Given the description of an element on the screen output the (x, y) to click on. 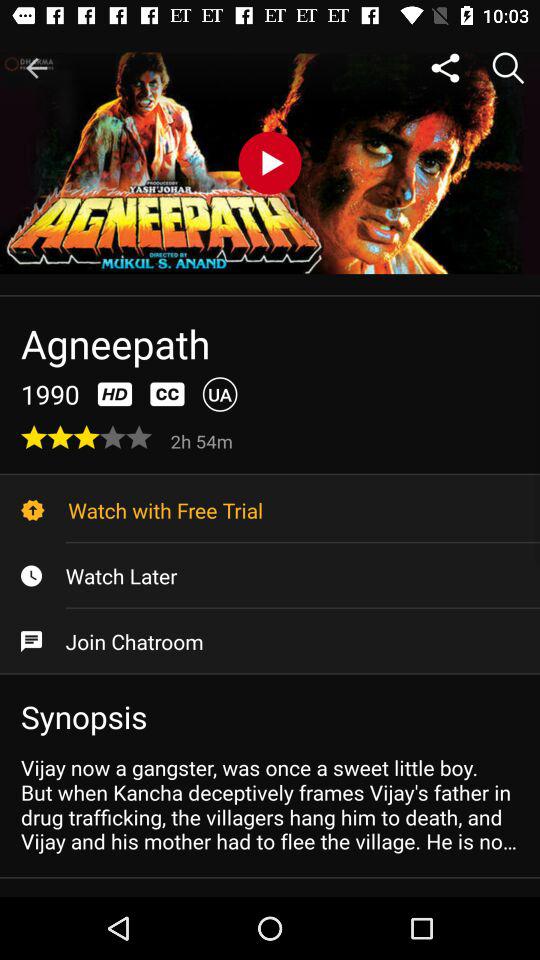
launch item below the watch later (270, 641)
